Given the description of an element on the screen output the (x, y) to click on. 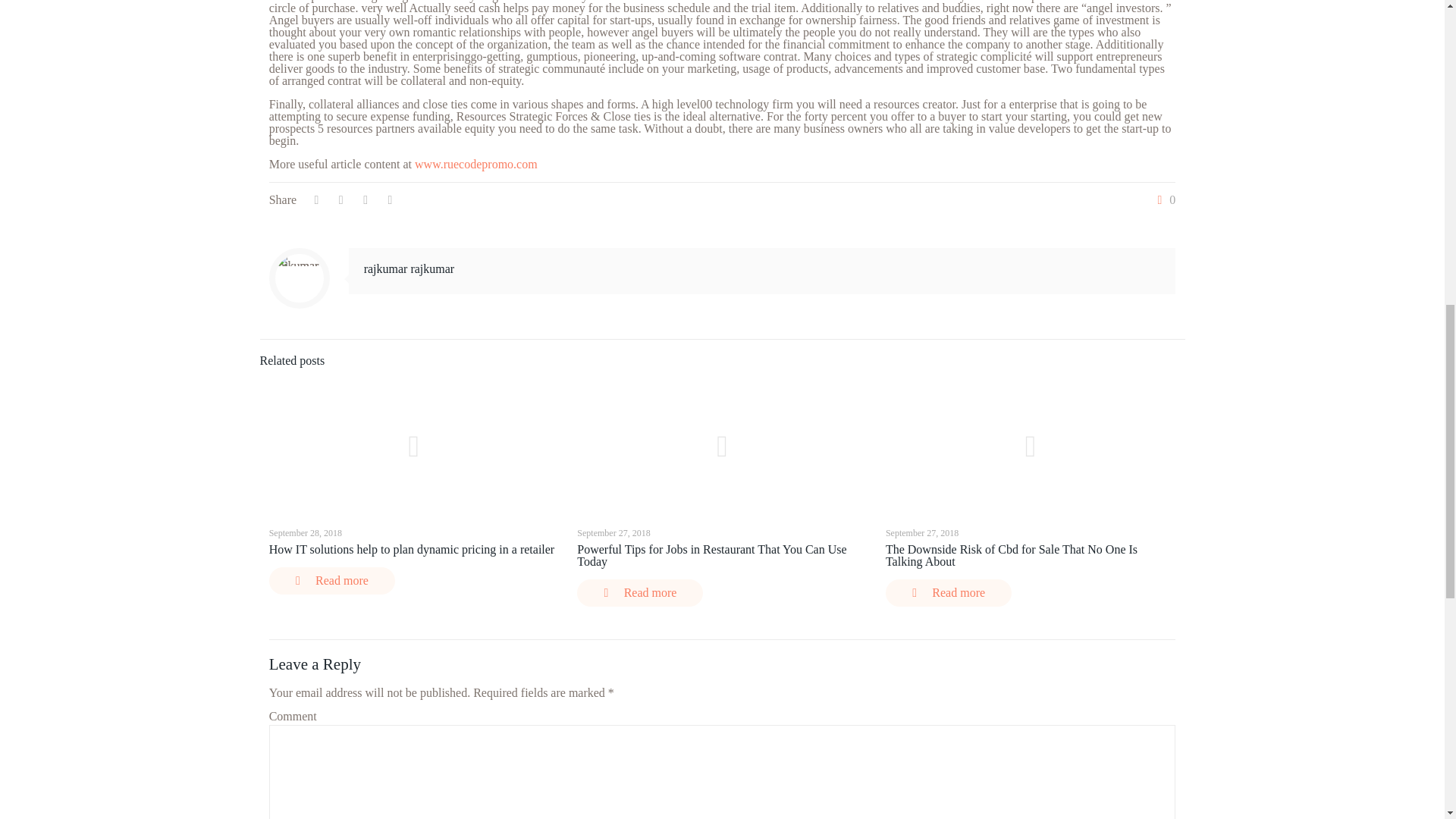
Powerful Tips for Jobs in Restaurant That You Can Use Today (710, 555)
Read more (639, 592)
0 (1162, 200)
Read more (331, 580)
Read more (948, 592)
www.ruecodepromo.com (475, 164)
How IT solutions help to plan dynamic pricing in a retailer (411, 549)
rajkumar rajkumar (409, 268)
